Given the description of an element on the screen output the (x, y) to click on. 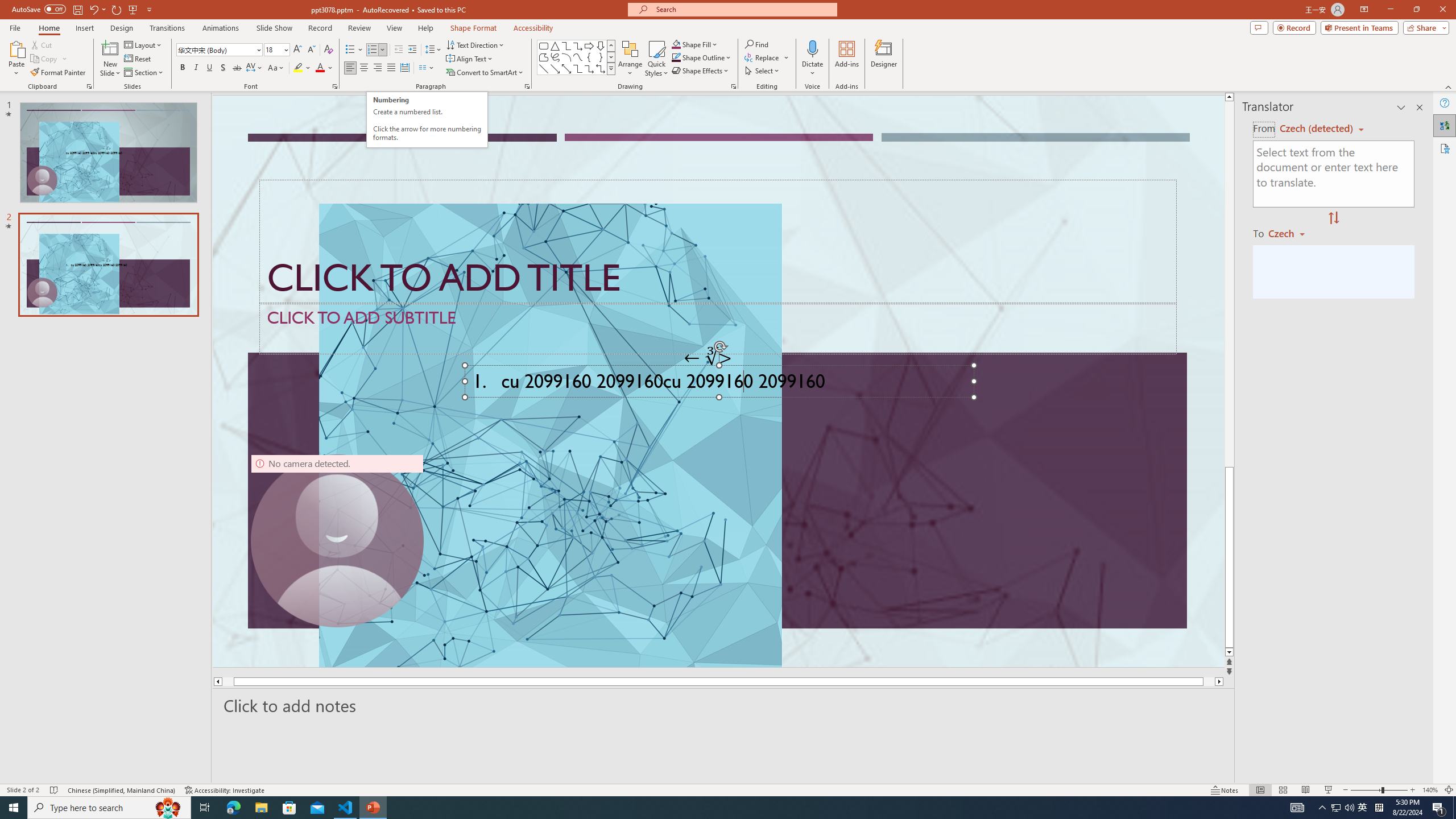
Freeform: Shape (543, 57)
Arrow: Right (589, 45)
Quick Styles (656, 58)
Row up (611, 45)
Paragraph... (526, 85)
TextBox 7 (708, 357)
Shape Effects (700, 69)
Right Brace (600, 57)
